Given the description of an element on the screen output the (x, y) to click on. 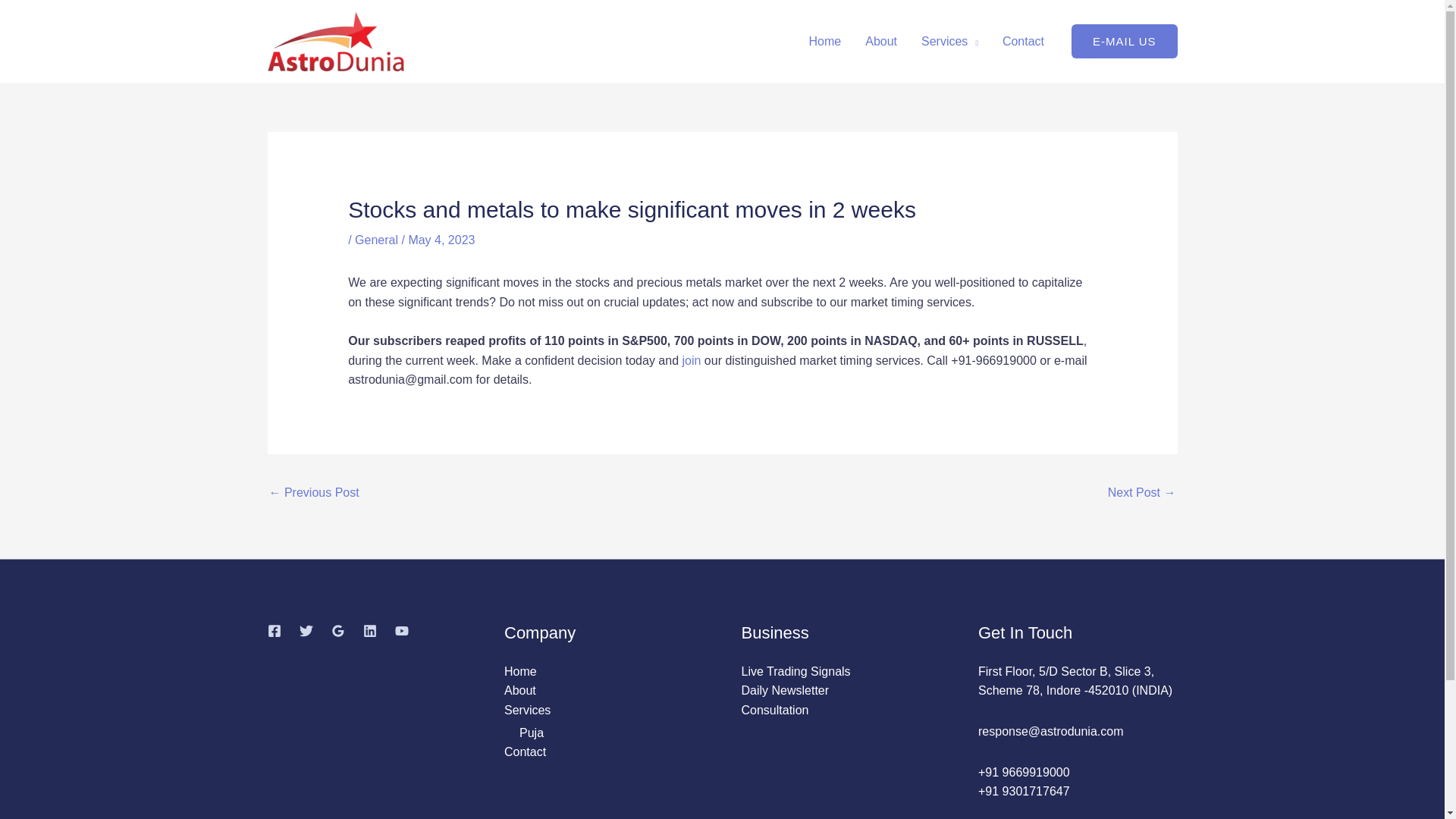
Live Trading Signals (795, 671)
Contact (524, 751)
Home (824, 41)
Services (526, 709)
E-MAIL US (1123, 41)
Puja (531, 732)
About (880, 41)
Contact (1023, 41)
Home (520, 671)
About (519, 689)
Services (949, 41)
Consultation (775, 709)
General (376, 239)
join (690, 359)
